Given the description of an element on the screen output the (x, y) to click on. 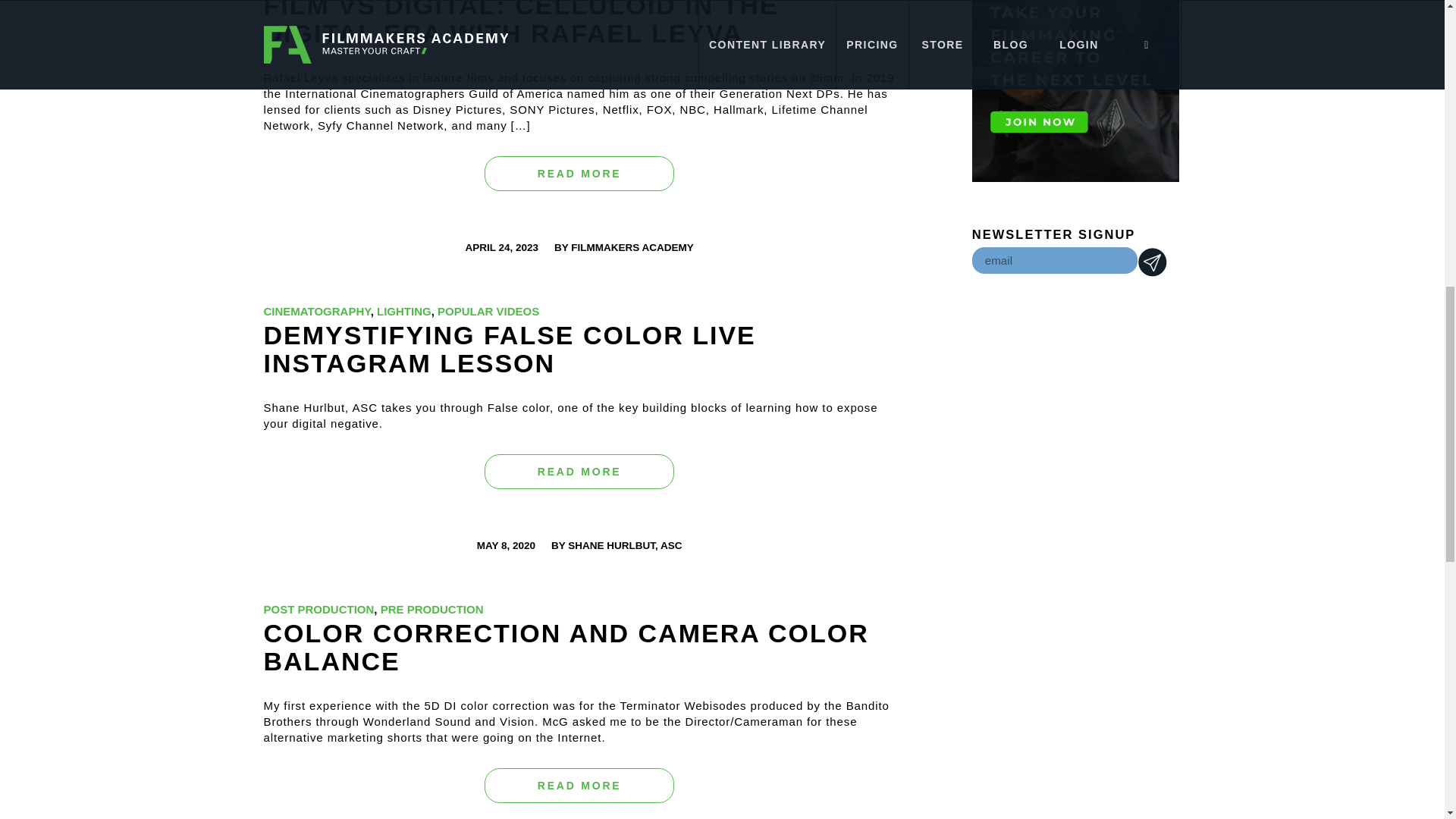
DEMYSTIFYING FALSE COLOR LIVE INSTAGRAM LESSON (509, 349)
CINEMATOGRAPHY (317, 310)
READ MORE (579, 173)
POPULAR VIDEOS (488, 310)
PRE PRODUCTION (431, 608)
Posts by Shane Hurlbut, ASC (624, 545)
READ MORE (579, 785)
COLOR CORRECTION AND CAMERA COLOR BALANCE (566, 647)
READ MORE (579, 471)
Posts by Filmmakers Academy (632, 247)
LIGHTING (403, 310)
Permanent Link: Color Correction and Camera Color Balance (566, 647)
